Given the description of an element on the screen output the (x, y) to click on. 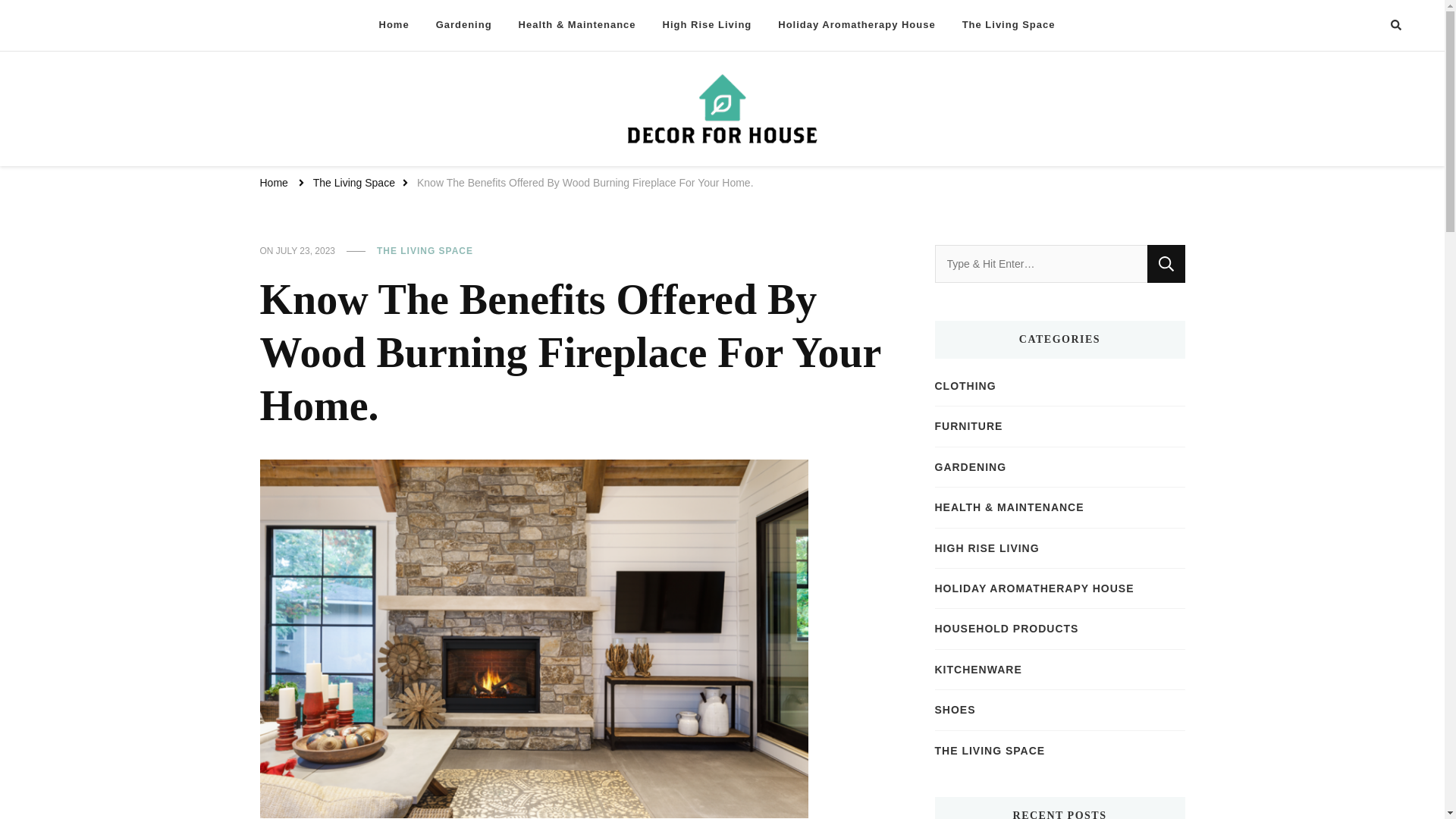
FURNITURE (968, 425)
Holiday Aromatherapy House (856, 25)
High Rise Living (706, 25)
Search (1166, 263)
The Living Space (1008, 25)
THE LIVING SPACE (989, 750)
THE LIVING SPACE (425, 251)
The Living Space (353, 183)
Search (1166, 263)
Gardening (464, 25)
HOUSEHOLD PRODUCTS (1006, 628)
SHOES (954, 709)
CLOTHING (964, 385)
JULY 23, 2023 (305, 251)
GARDENING (970, 466)
